Given the description of an element on the screen output the (x, y) to click on. 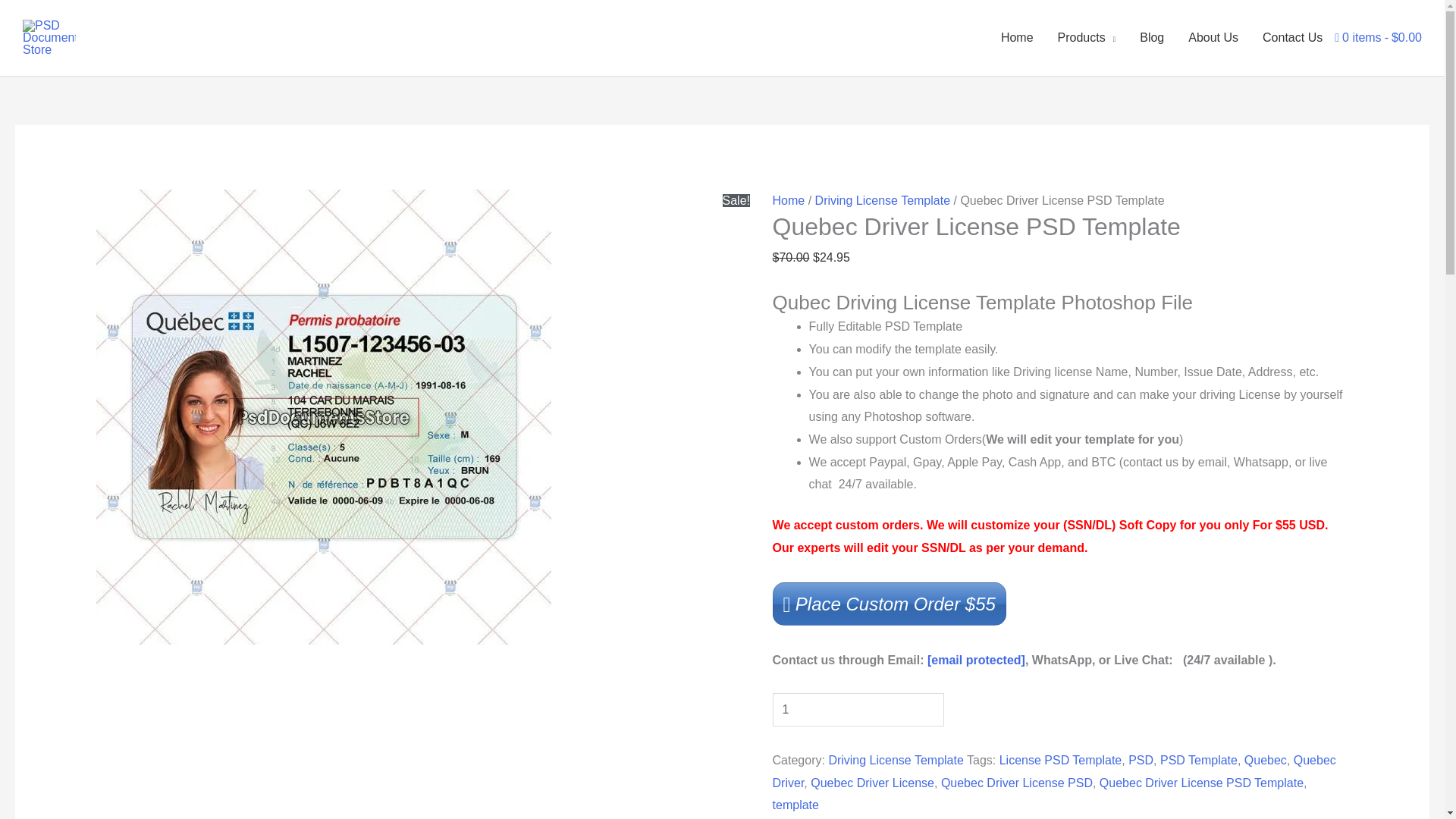
Home (1016, 37)
License PSD Template (1060, 759)
Quebec Driver License PSD (1016, 782)
3769 (61, 21)
Driving License Template (895, 759)
Contact Us (1292, 37)
About Us (1213, 37)
Home (789, 200)
1 (858, 709)
